Given the description of an element on the screen output the (x, y) to click on. 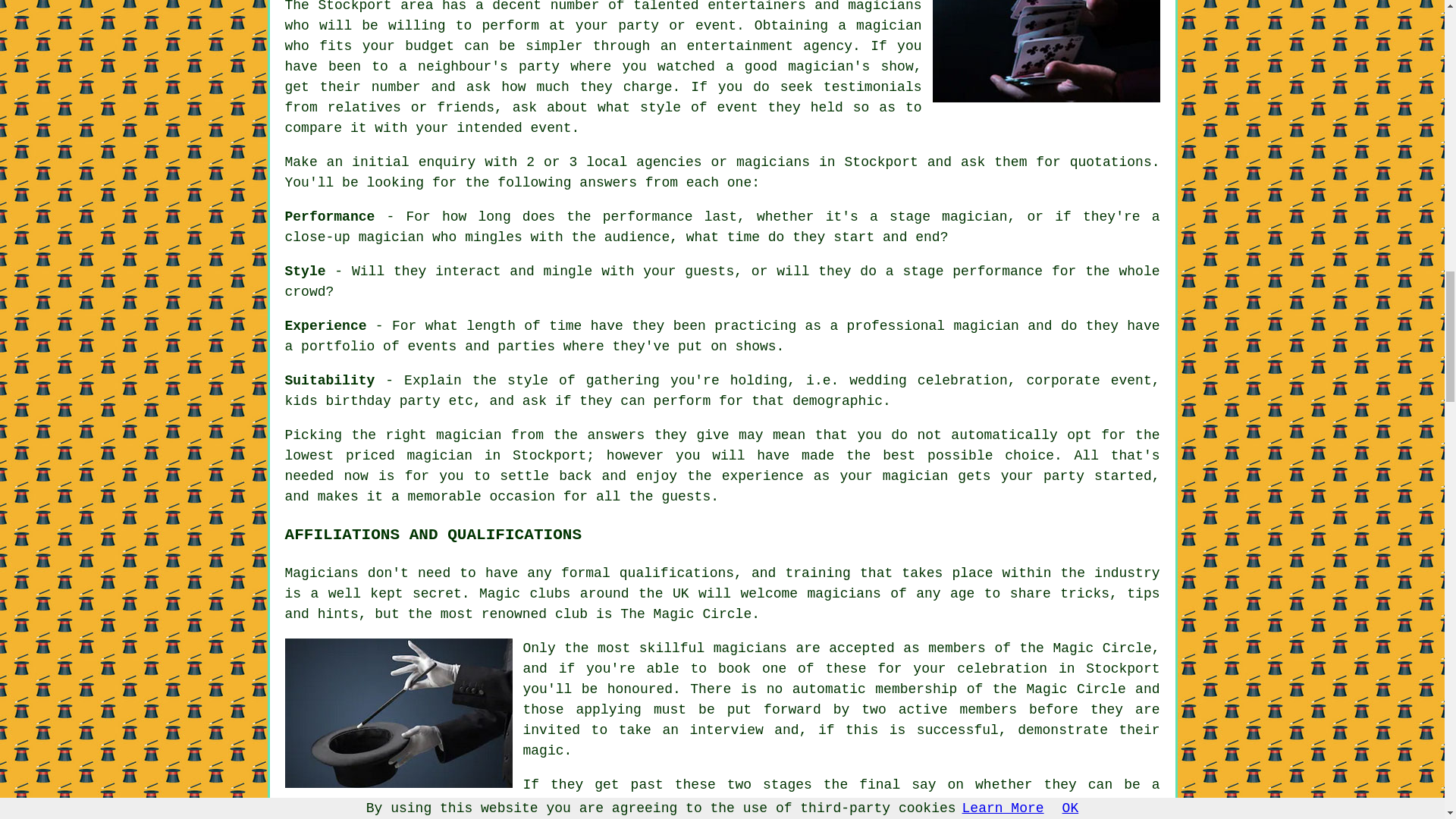
Magician Near Stockport Greater Manchester (1046, 51)
Magic Tricks Stockport (398, 712)
